Given the description of an element on the screen output the (x, y) to click on. 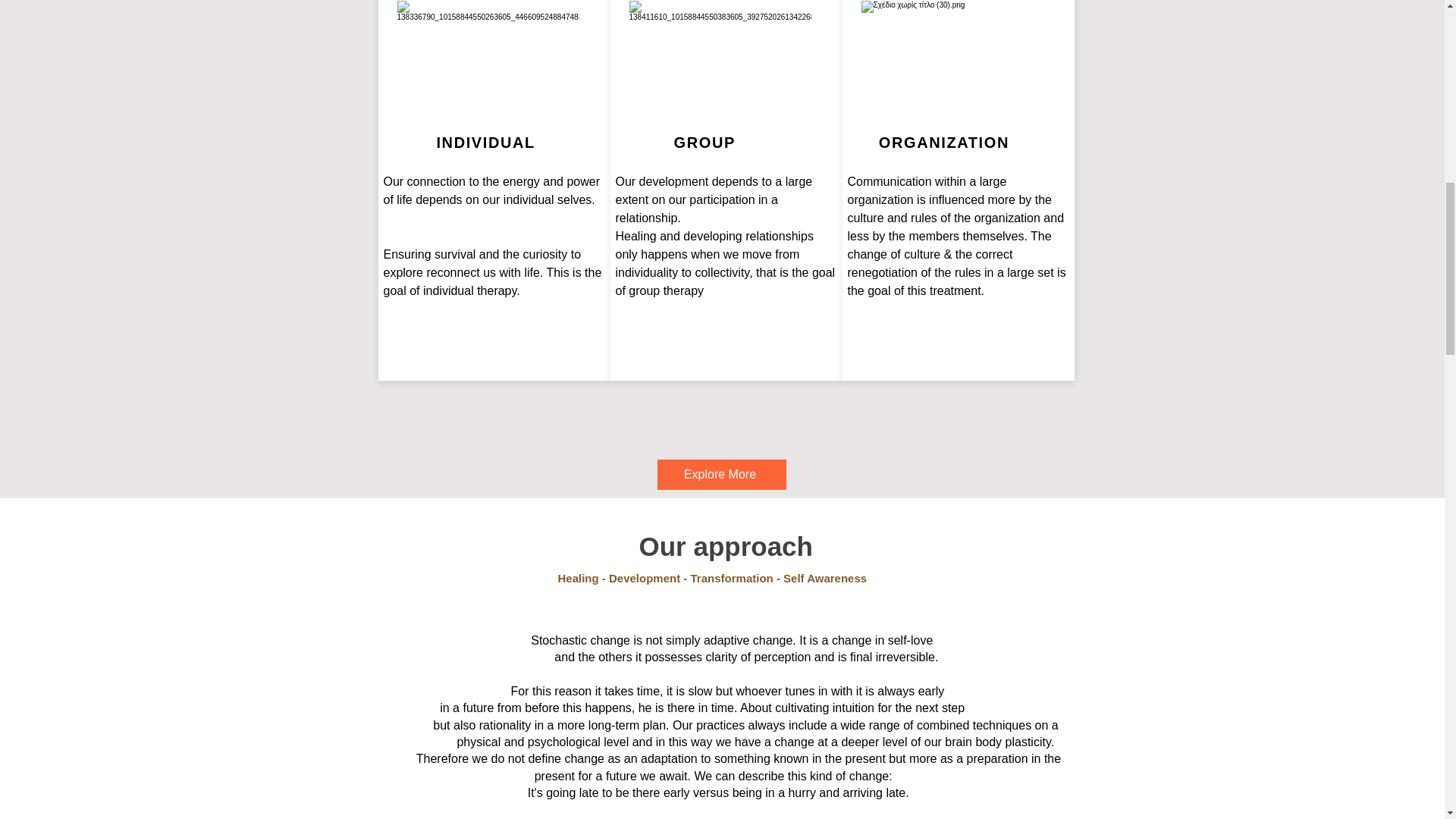
Explore More (721, 474)
